Given the description of an element on the screen output the (x, y) to click on. 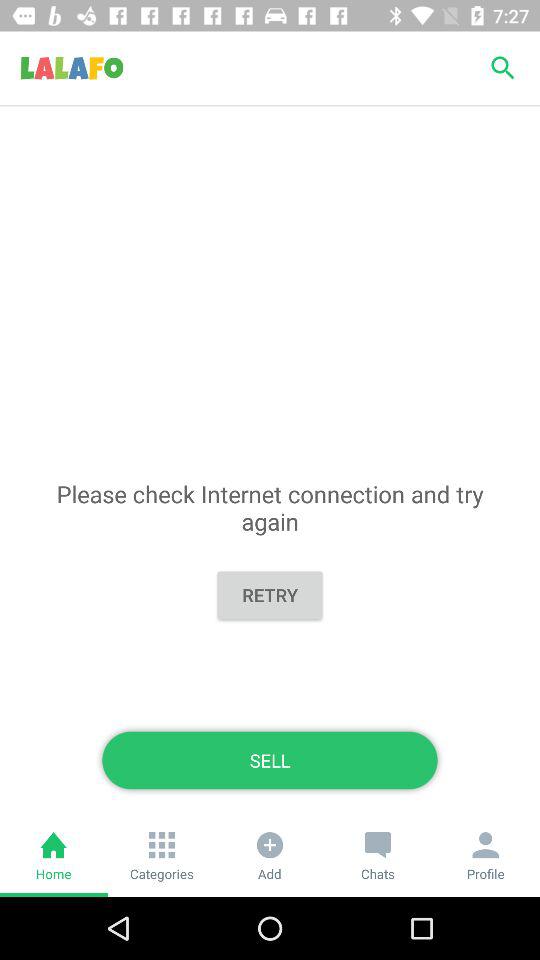
select icon at the top right corner (503, 67)
